Given the description of an element on the screen output the (x, y) to click on. 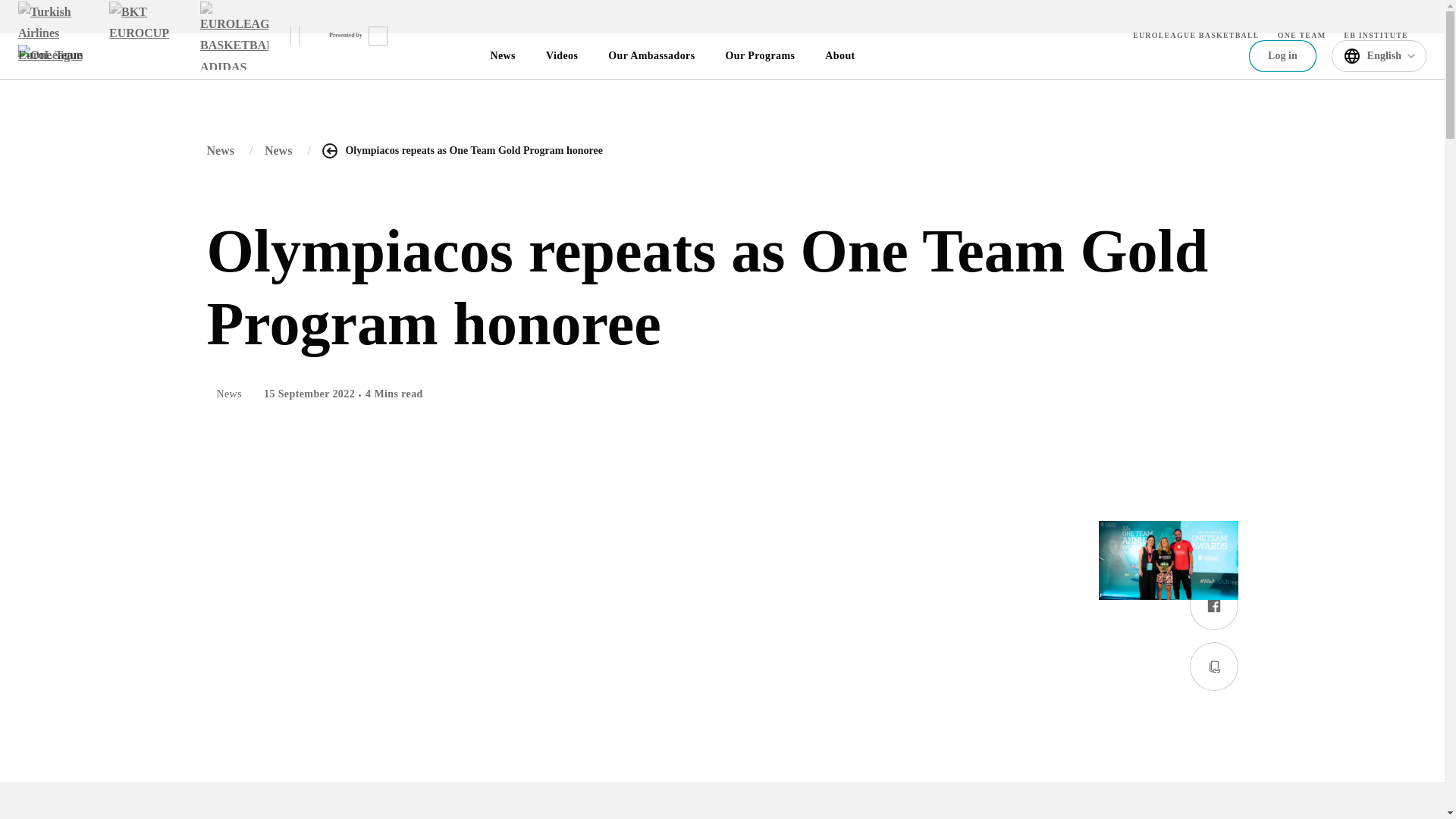
Turkish Airlines EuroLeague (51, 35)
EUROLEAGUE BASKETBALL (1195, 35)
EUROLEAGUE BASKETBALL ADIDAS NEXT GENERATION TOURNAMENT (233, 35)
BKT EUROCUP (143, 35)
